Given the description of an element on the screen output the (x, y) to click on. 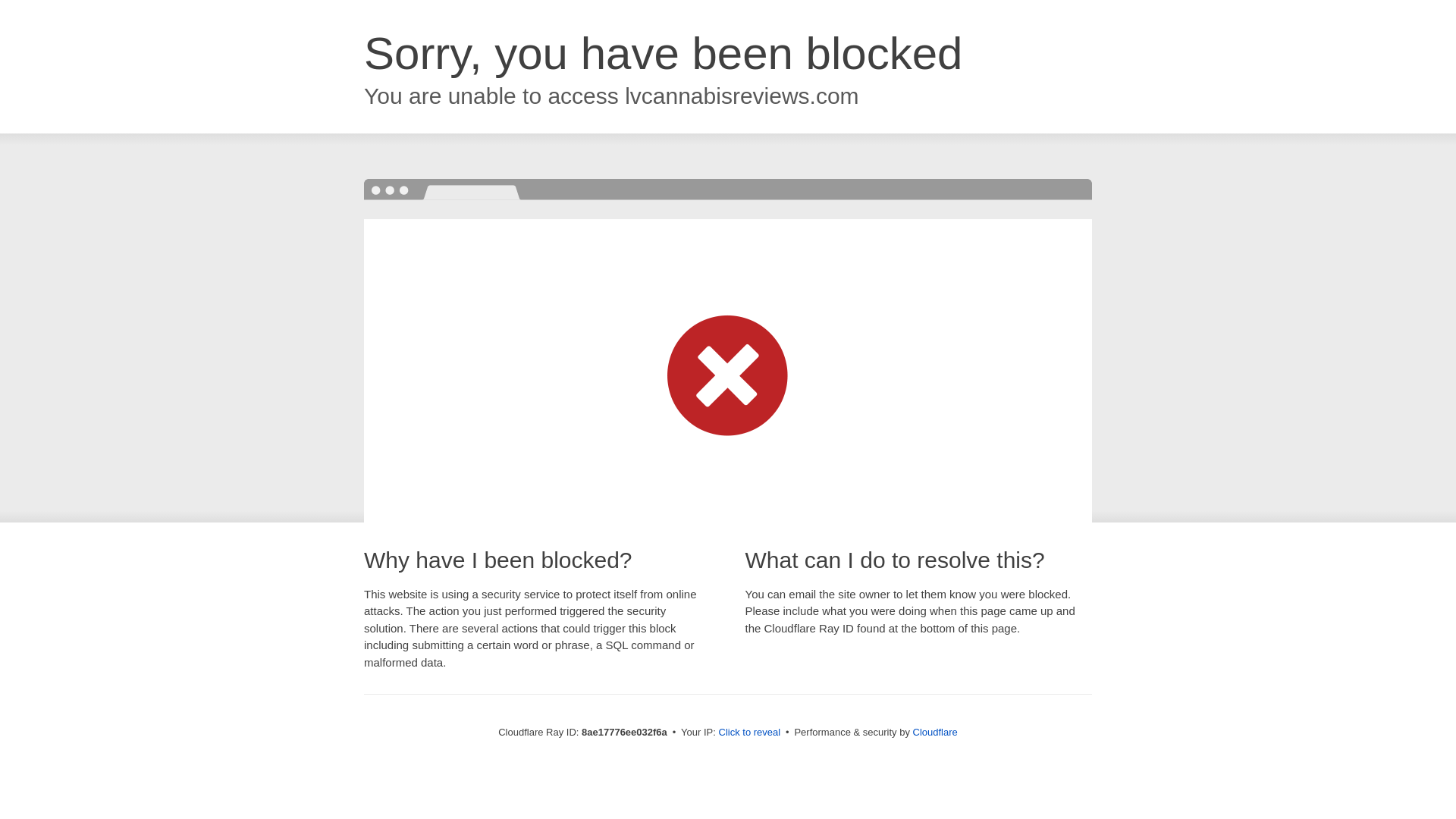
Click to reveal (749, 732)
Cloudflare (935, 731)
